Given the description of an element on the screen output the (x, y) to click on. 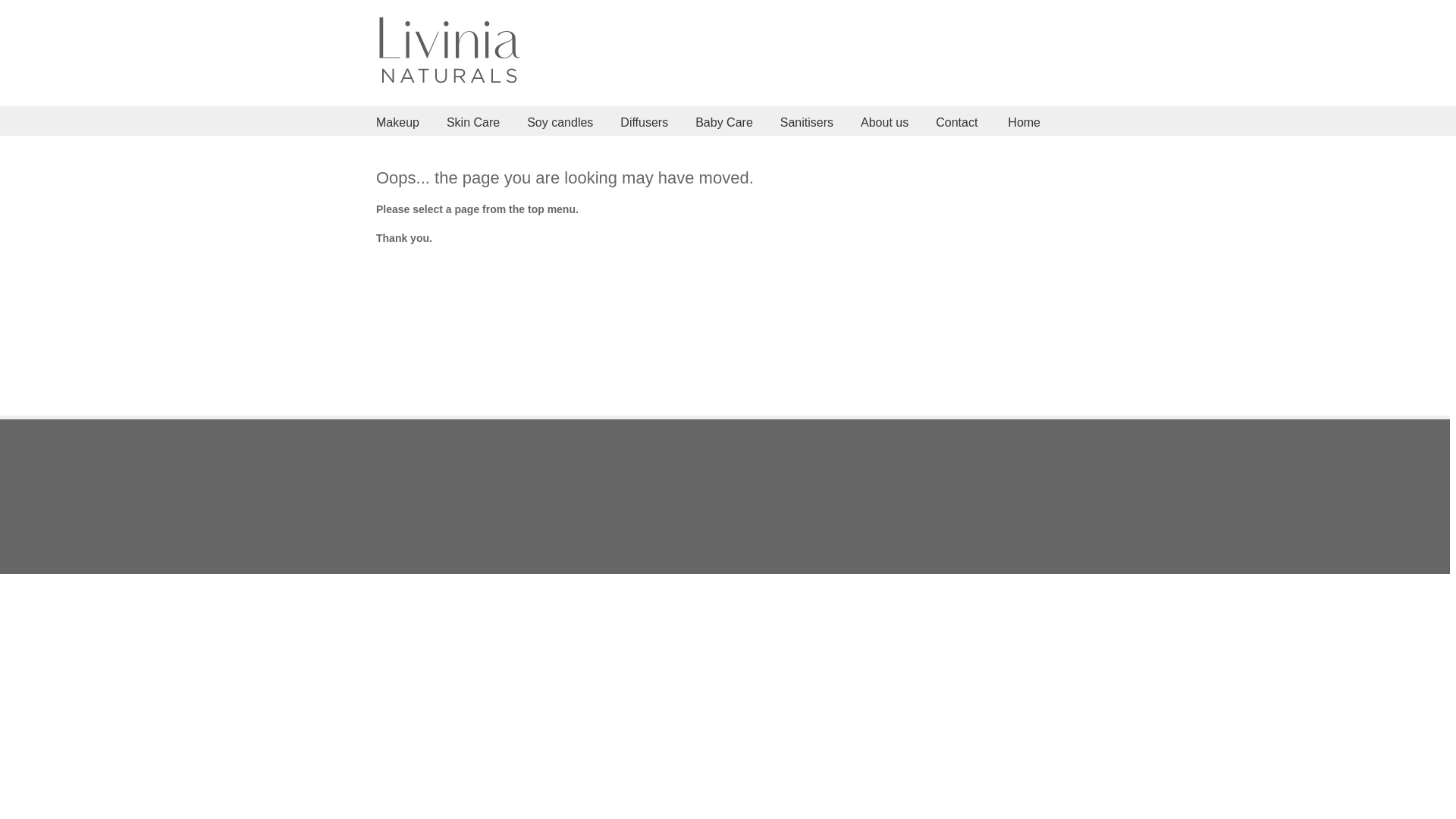
Diffusers Element type: text (642, 121)
Sanitisers Element type: text (804, 121)
Skin Care Element type: text (471, 121)
Soy candles Element type: text (558, 121)
Contact Element type: text (956, 121)
Home Element type: text (1024, 121)
Makeup Element type: text (395, 121)
About us Element type: text (883, 121)
Baby Care Element type: text (722, 121)
